Given the description of an element on the screen output the (x, y) to click on. 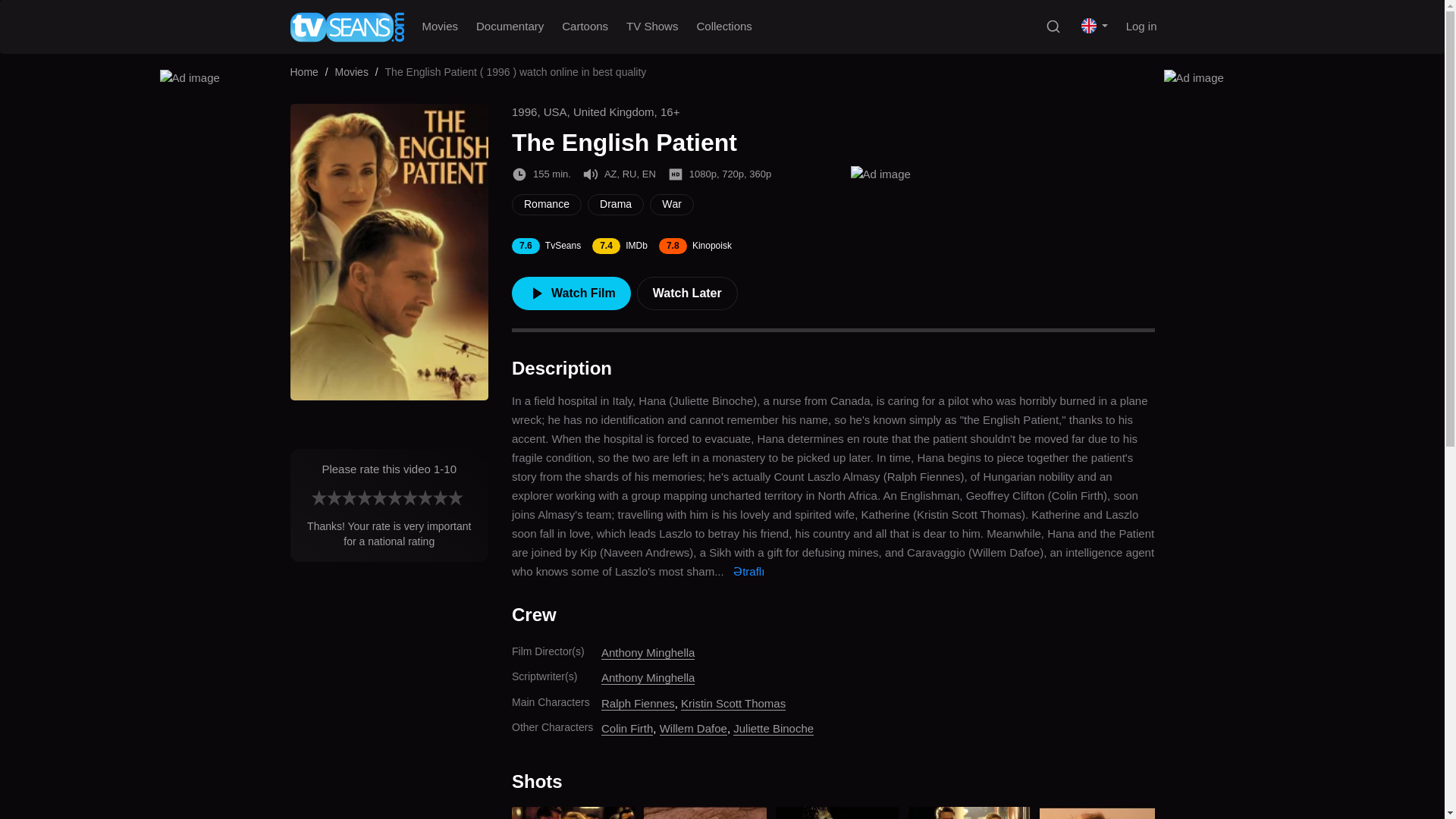
Movies (439, 26)
Search (1052, 25)
